Given the description of an element on the screen output the (x, y) to click on. 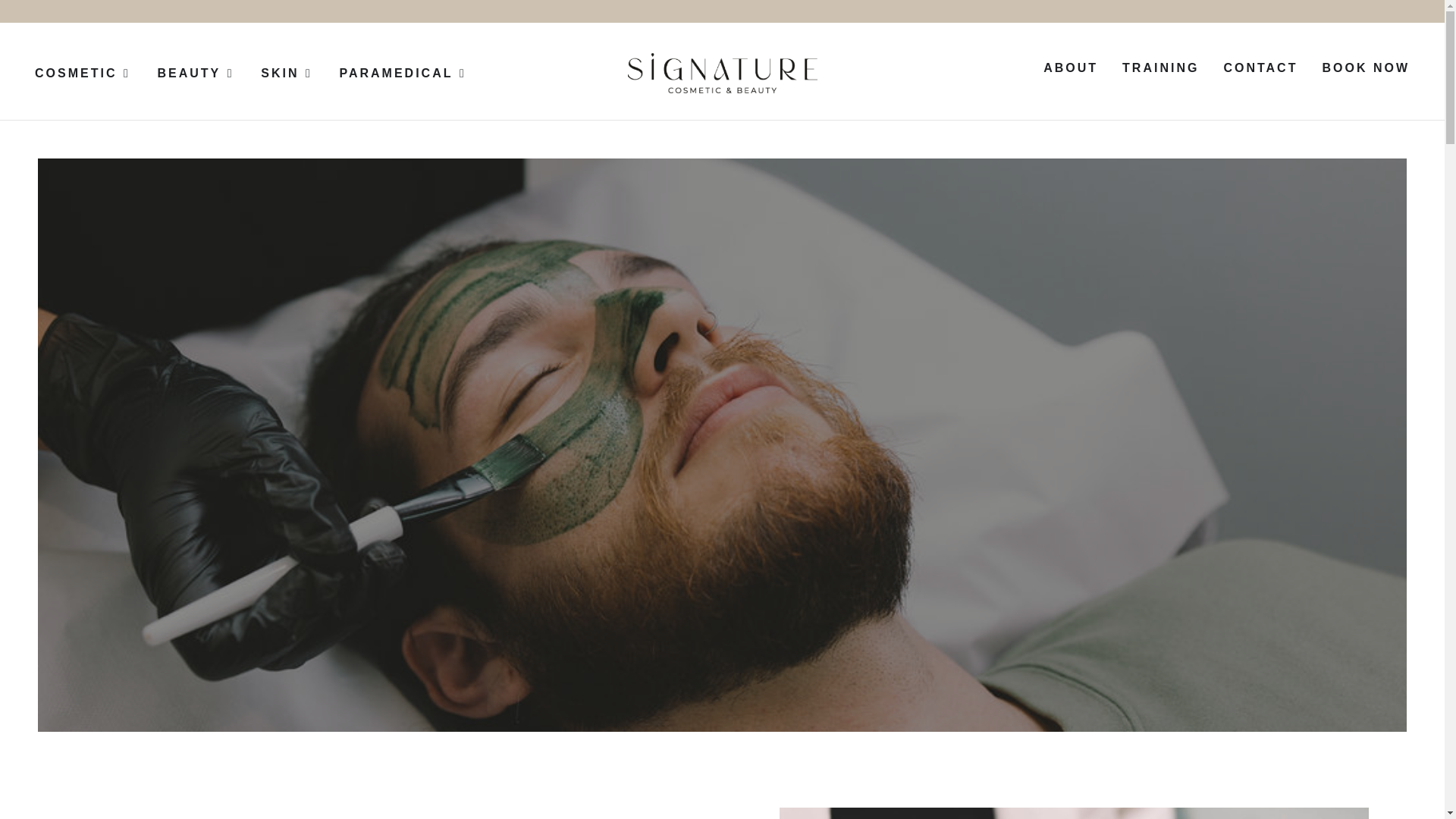
BEAUTY (189, 73)
ABOUT (1070, 67)
SKIN (279, 73)
BOOK NOW (1365, 67)
COSMETIC (75, 73)
CONTACT (1260, 67)
PARAMEDICAL (395, 73)
TRAINING (1160, 67)
